Given the description of an element on the screen output the (x, y) to click on. 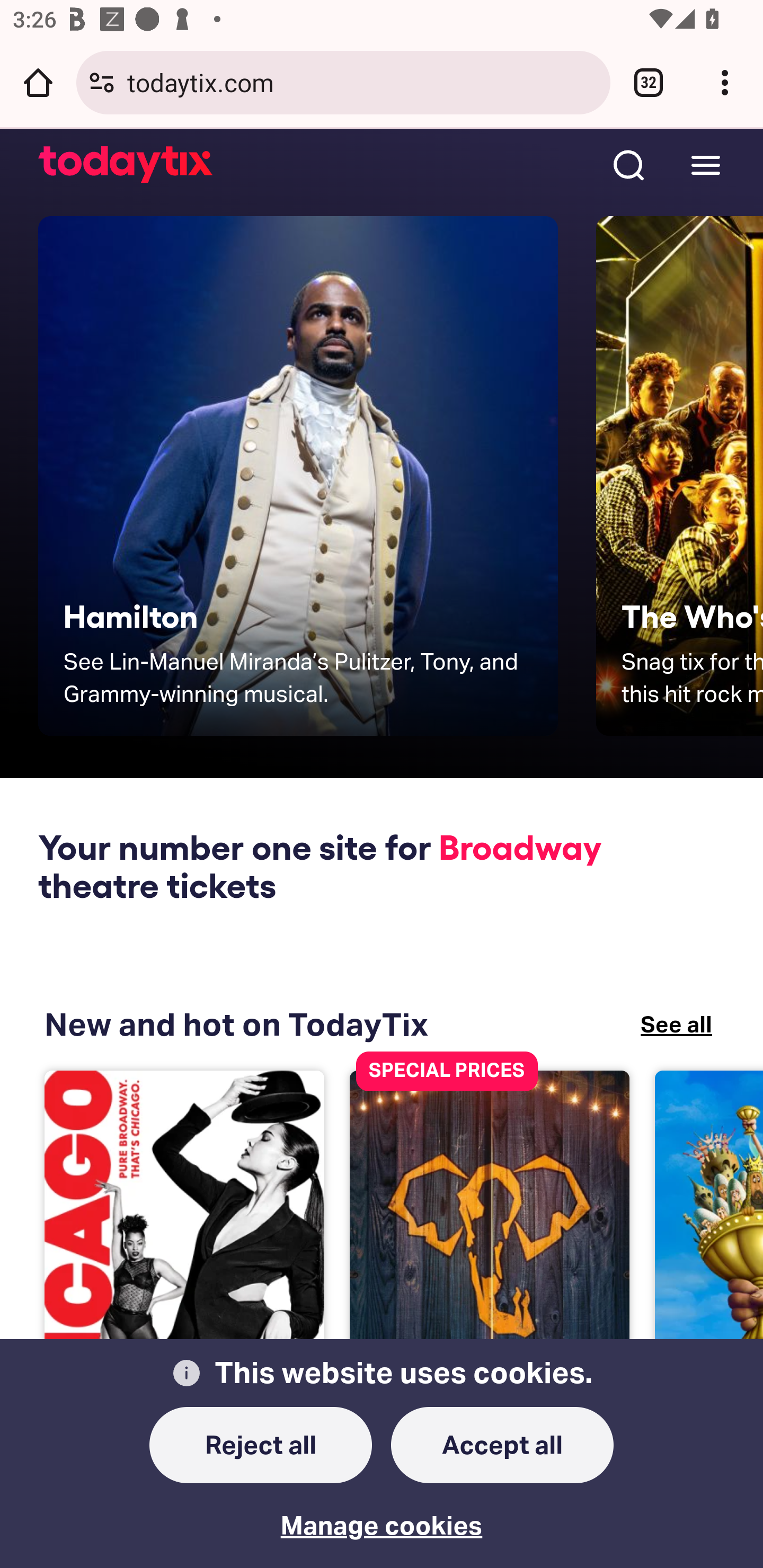
Open the home page (38, 82)
Connection is secure (101, 82)
Switch or close tabs (648, 82)
Customize and control Google Chrome (724, 82)
todaytix.com (362, 82)
TodayTix Logo (126, 165)
See all (675, 1024)
Reject all (260, 1445)
Accept all (501, 1445)
Manage cookies (381, 1512)
